Given the description of an element on the screen output the (x, y) to click on. 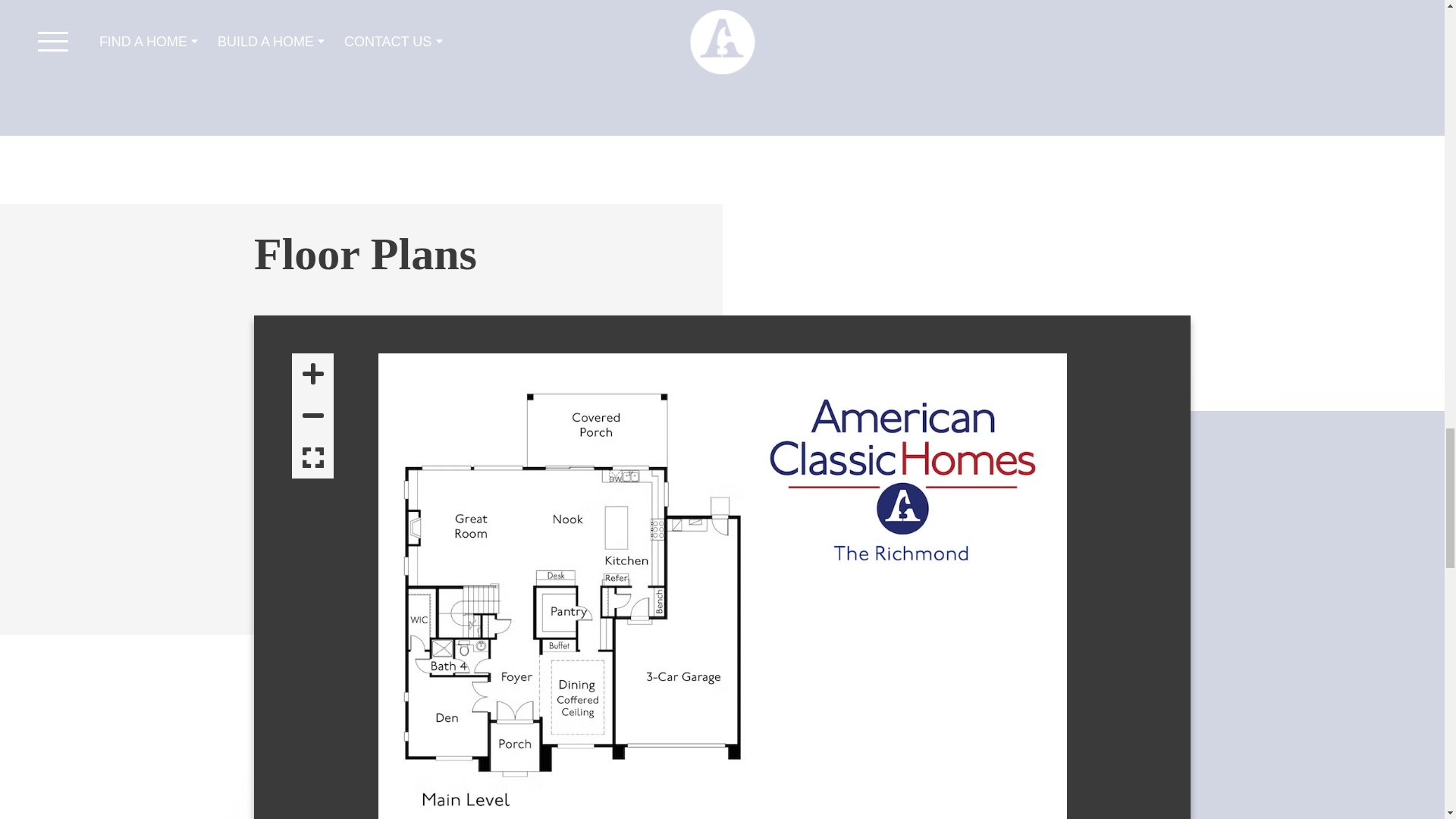
Expand (312, 457)
Zoom Out (312, 415)
Zoom In (312, 374)
